Given the description of an element on the screen output the (x, y) to click on. 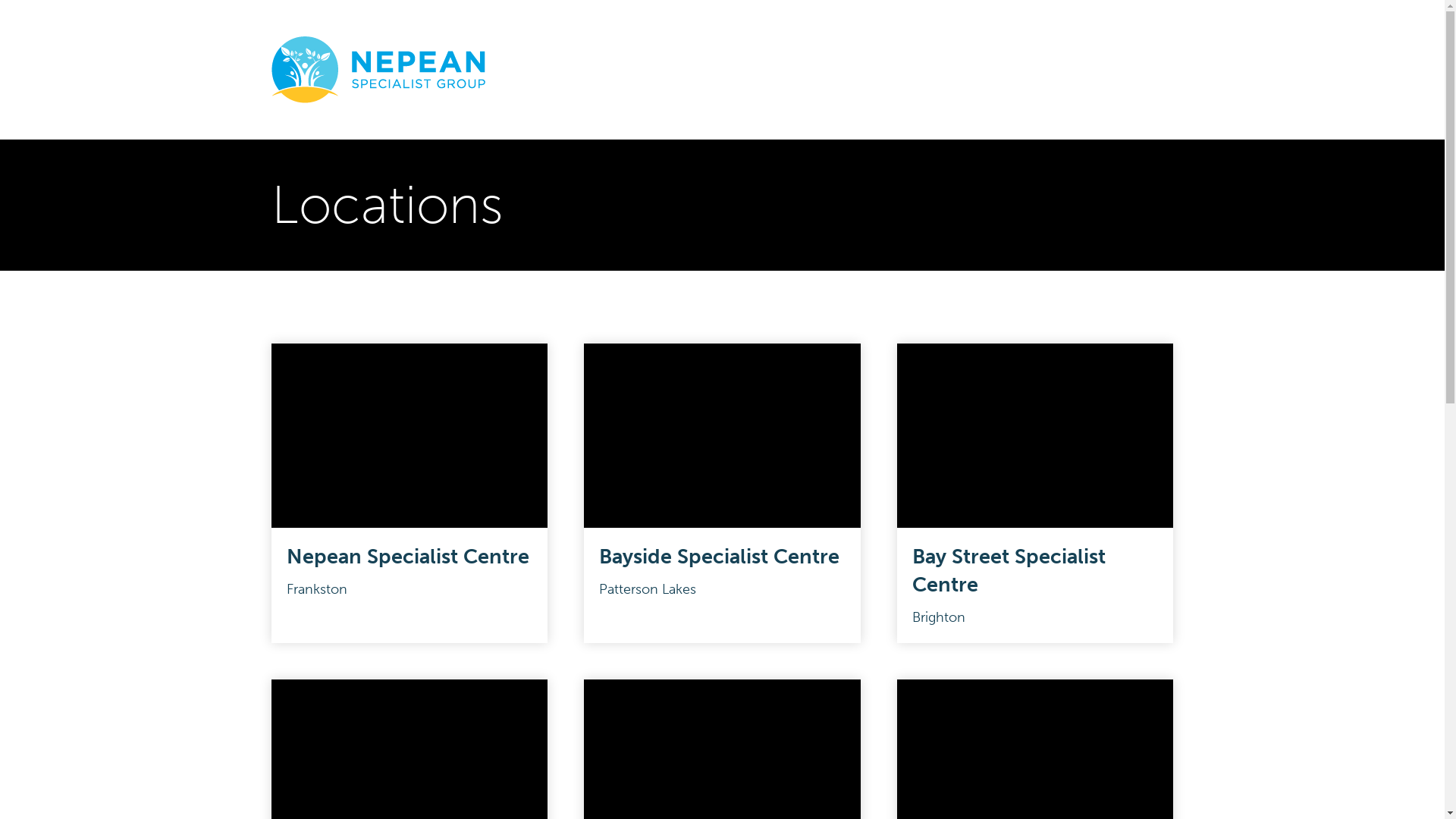
Bay Street Specialist Centre
Brighton Element type: text (1035, 493)
Nepean Specialist Centre
Frankston Element type: text (409, 493)
Bayside Specialist Centre
Patterson Lakes Element type: text (721, 493)
